Given the description of an element on the screen output the (x, y) to click on. 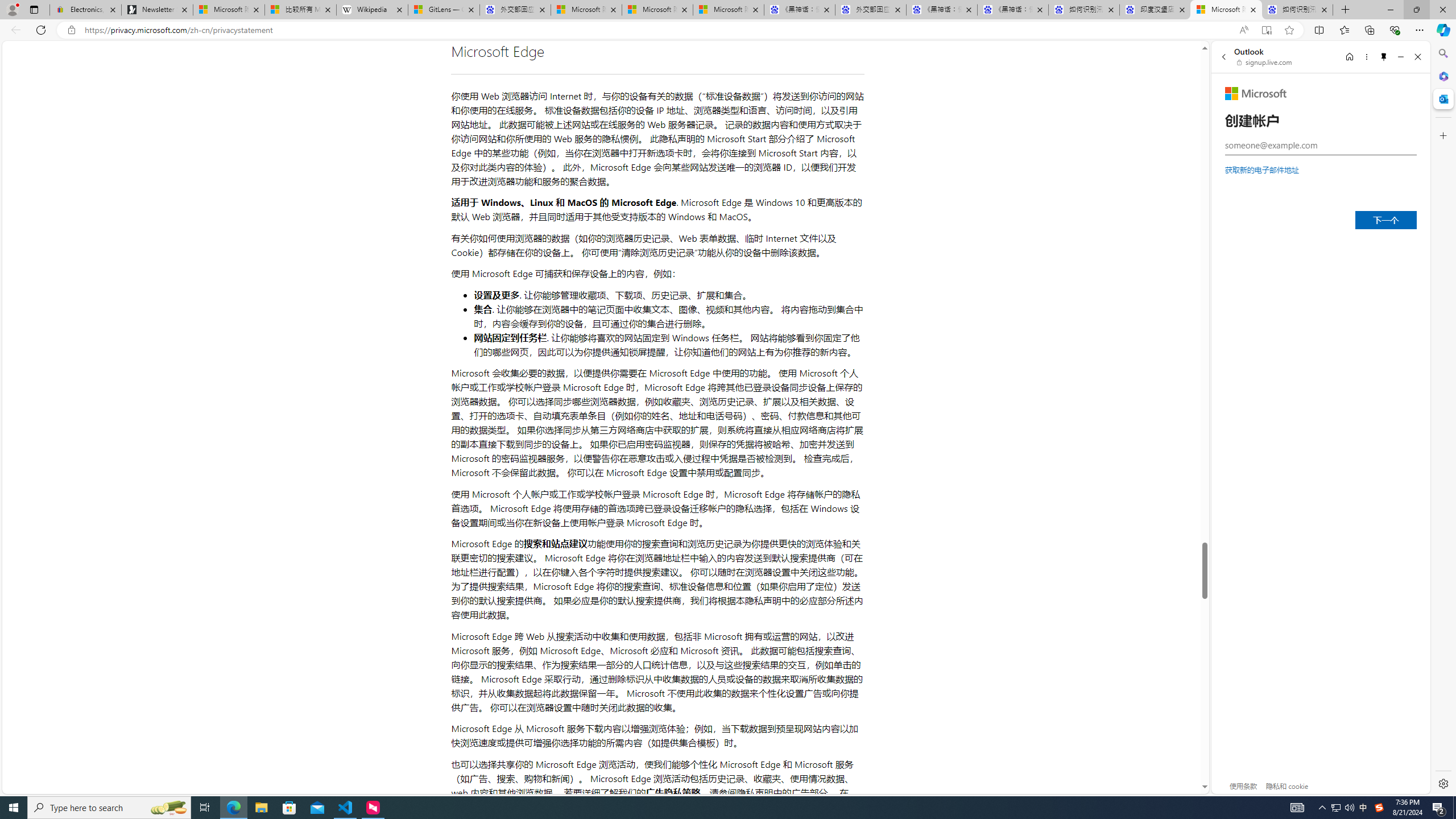
Refresh (40, 29)
Read aloud this page (Ctrl+Shift+U) (1243, 29)
Add this page to favorites (Ctrl+D) (1289, 29)
Settings and more (Alt+F) (1419, 29)
Enter Immersive Reader (F9) (1266, 29)
App bar (728, 29)
Close tab (1324, 9)
